Given the description of an element on the screen output the (x, y) to click on. 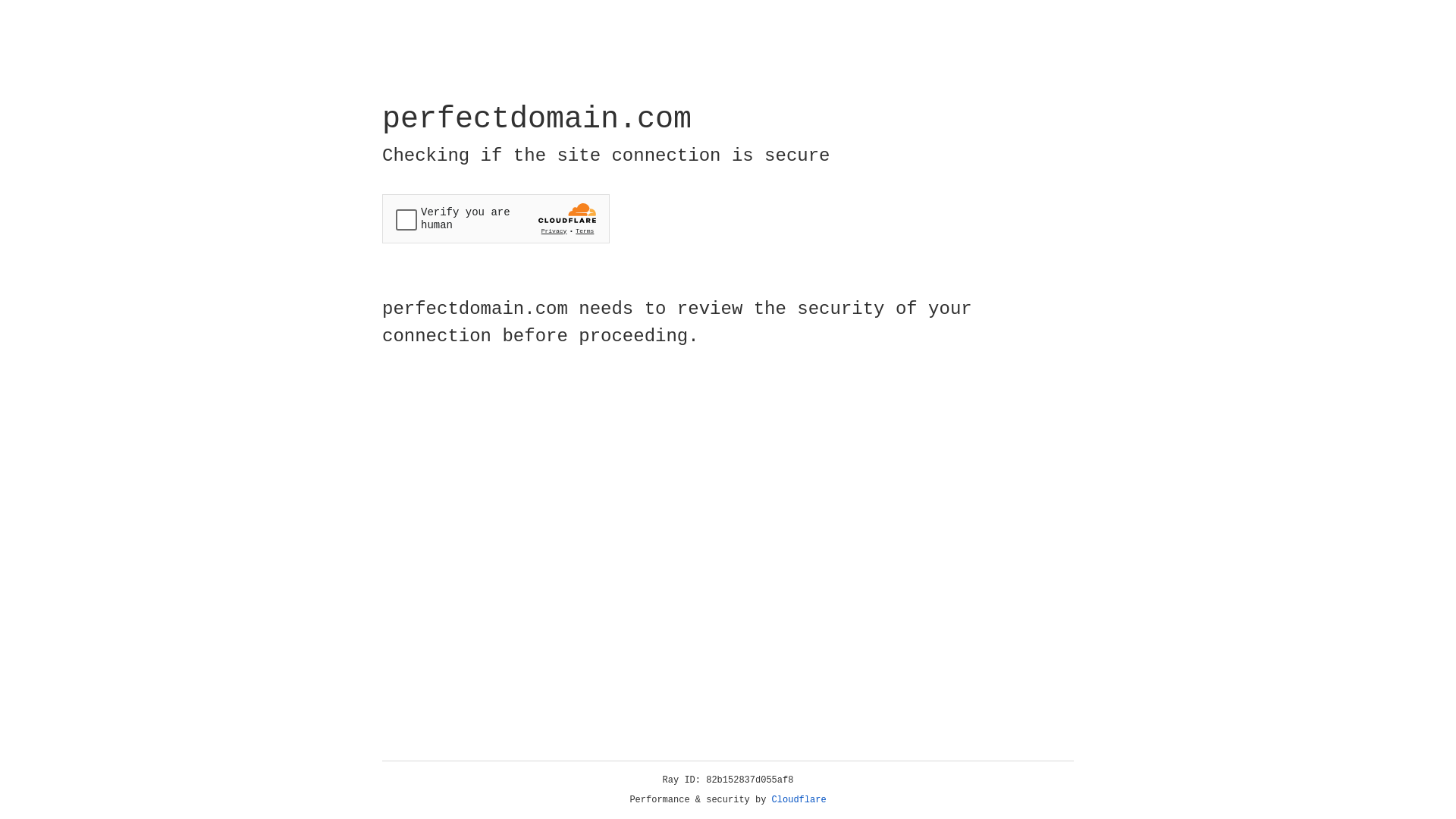
Cloudflare Element type: text (798, 799)
Widget containing a Cloudflare security challenge Element type: hover (495, 218)
